Given the description of an element on the screen output the (x, y) to click on. 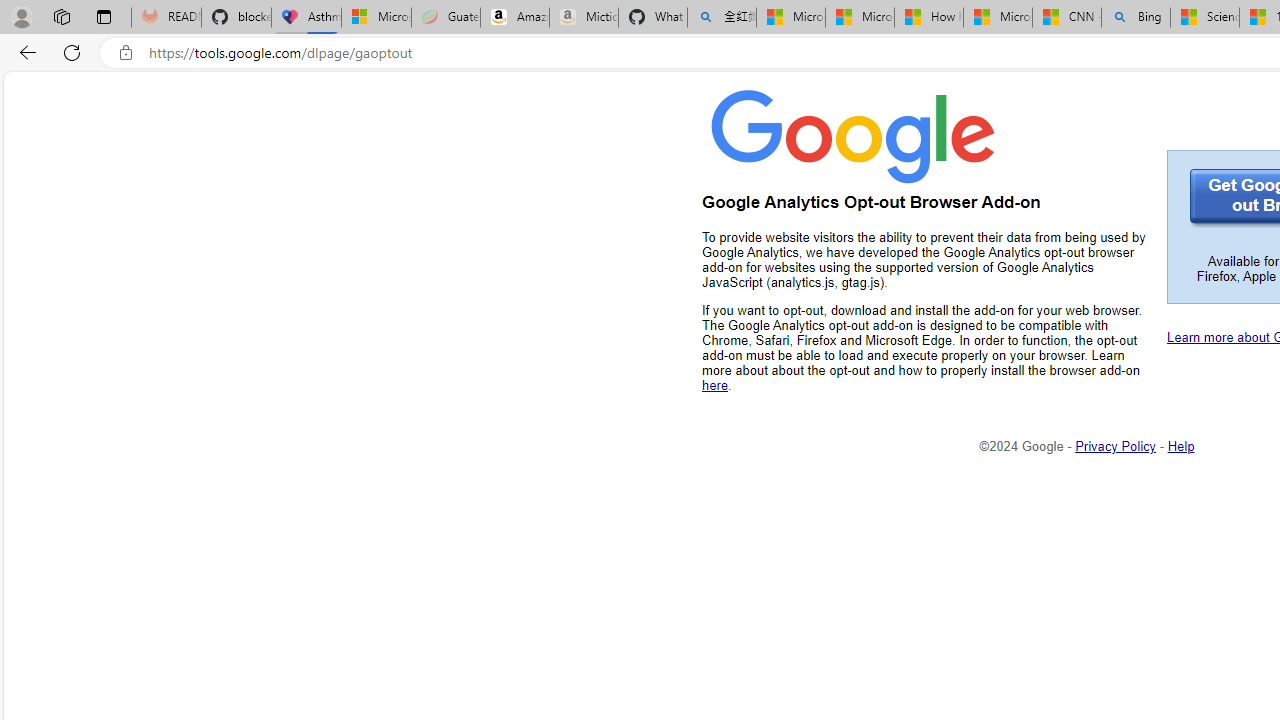
How I Got Rid of Microsoft Edge's Unnecessary Features (928, 17)
Privacy Policy (1116, 445)
Help (1181, 445)
Asthma Inhalers: Names and Types (305, 17)
